Given the description of an element on the screen output the (x, y) to click on. 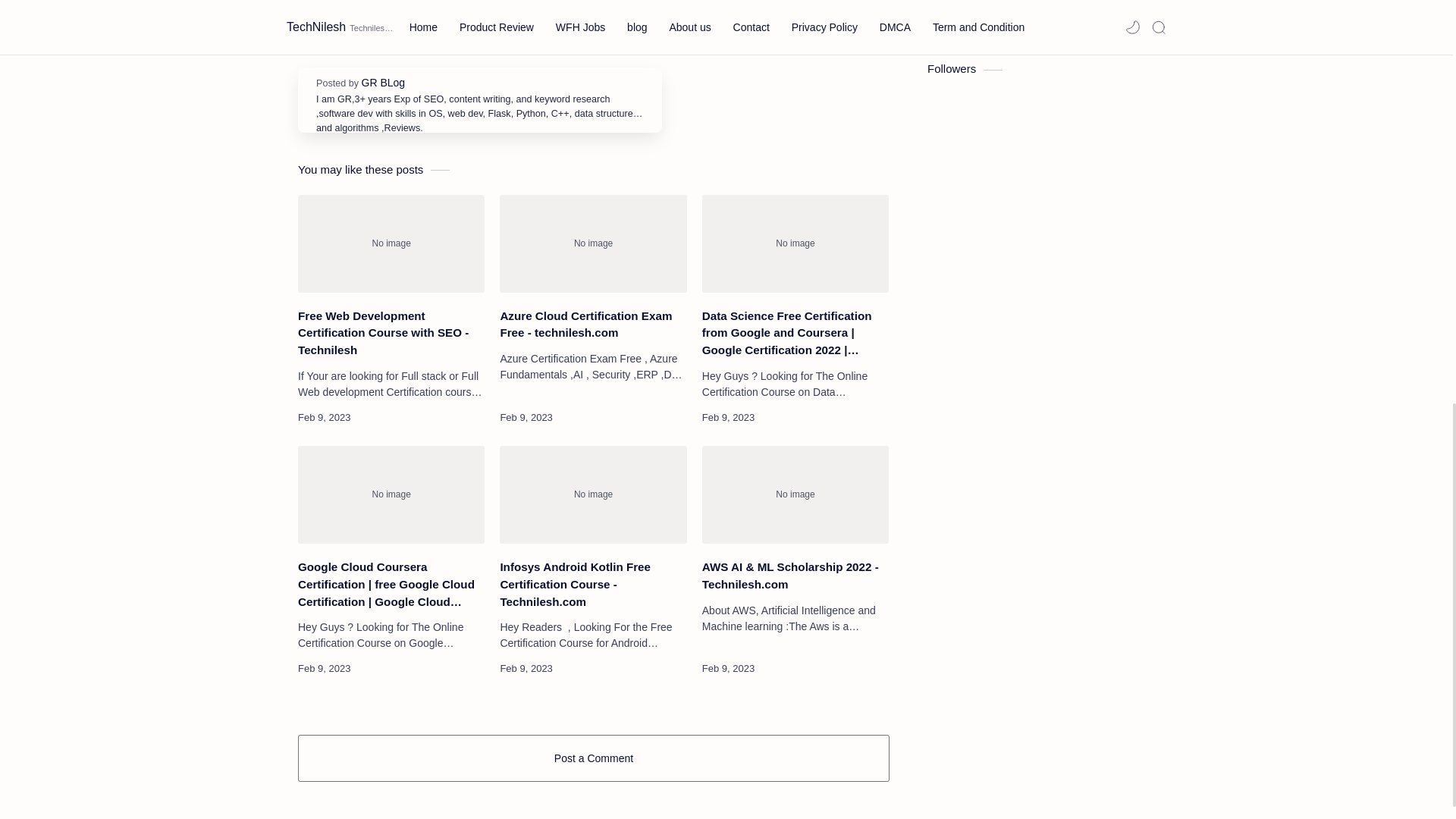
Azure Cloud Certification Exam Free  - technilesh.com (592, 243)
